Given the description of an element on the screen output the (x, y) to click on. 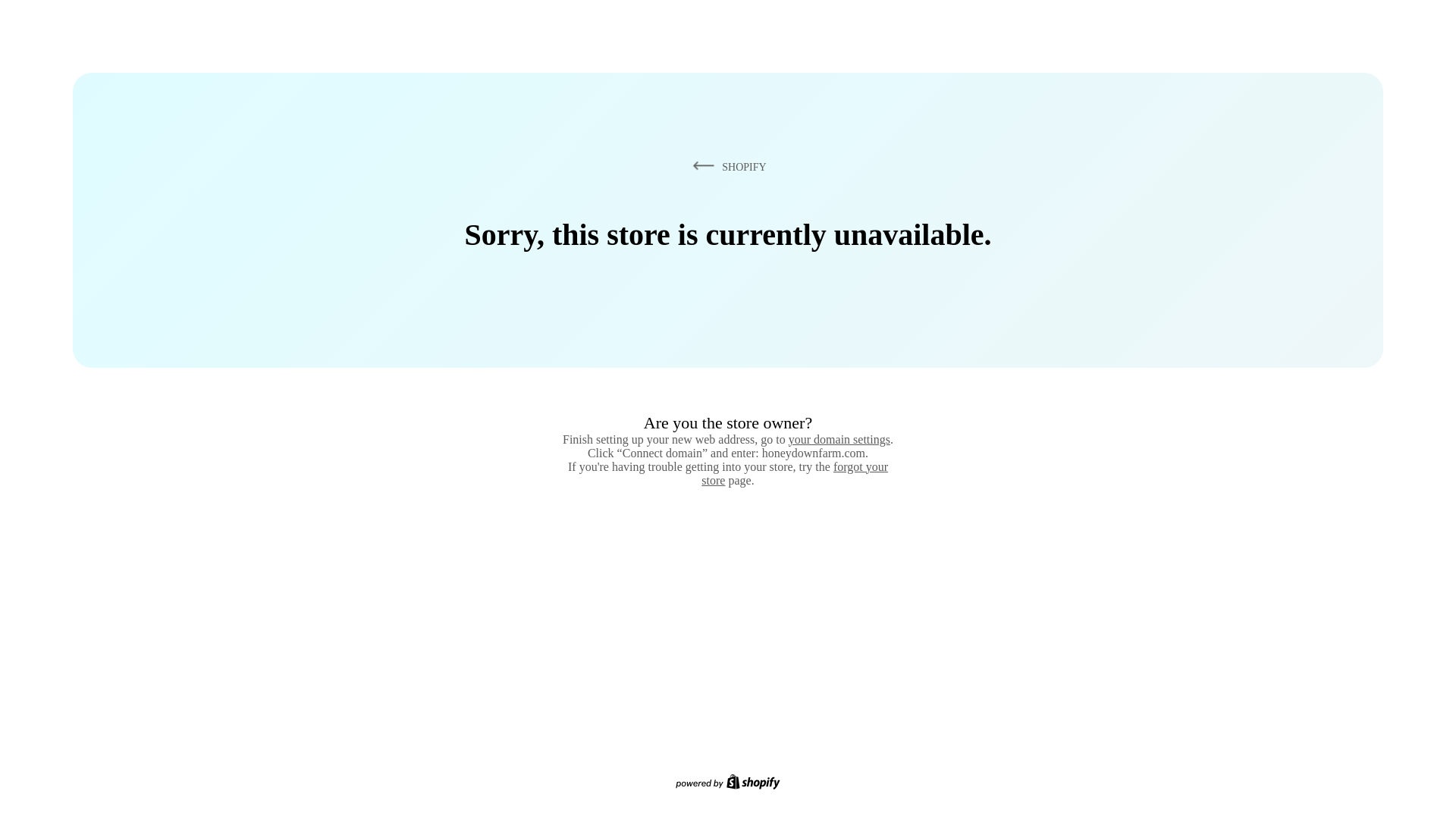
forgot your store (794, 473)
your domain settings (839, 439)
SHOPIFY (726, 166)
